Given the description of an element on the screen output the (x, y) to click on. 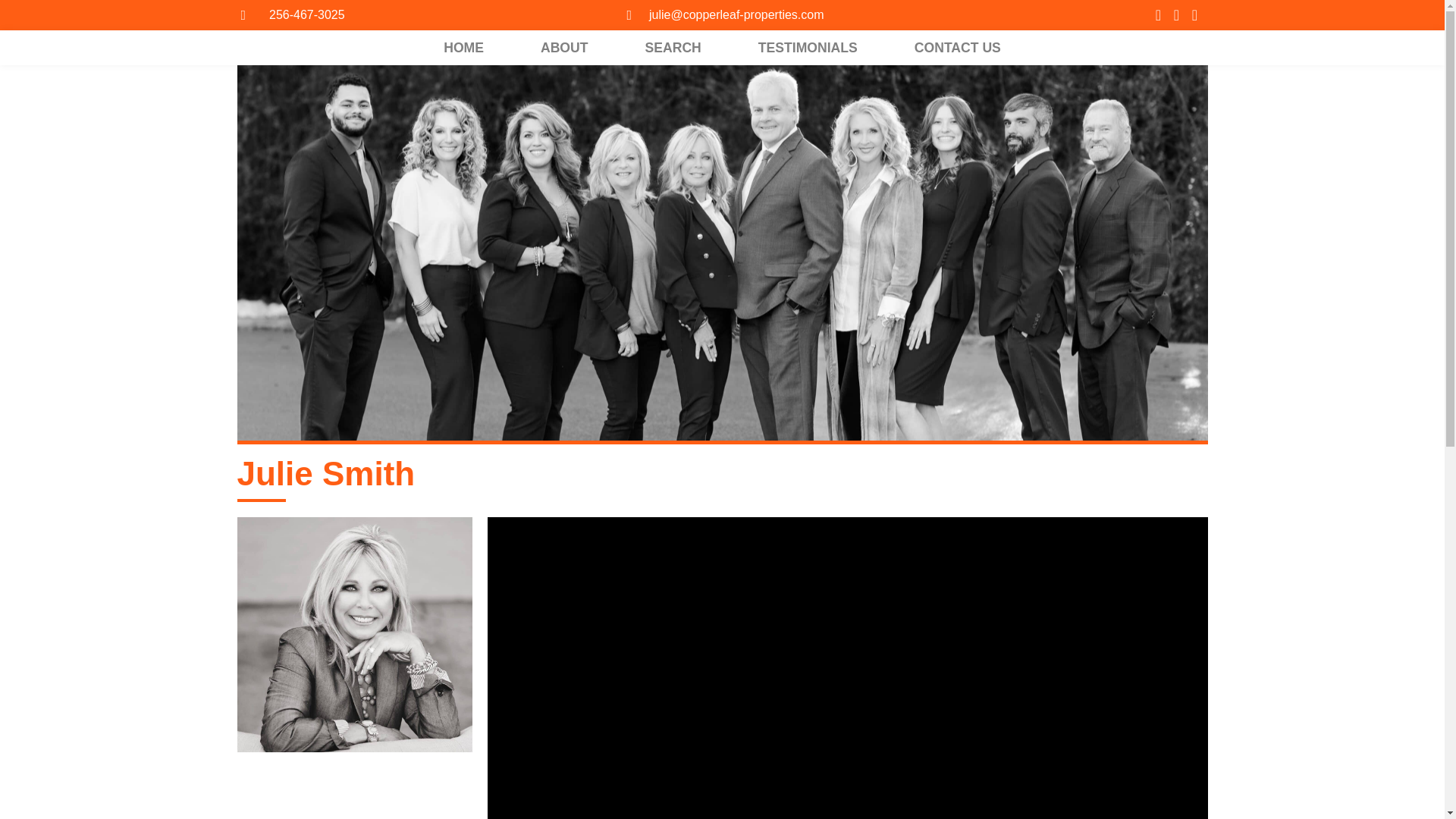
ABOUT (564, 47)
Youtube (1194, 14)
SEARCH (673, 47)
Facebook (1157, 14)
256-467-3025 (293, 15)
CONTACT US (957, 47)
TESTIMONIALS (807, 47)
HOME (463, 47)
Instagram (1176, 14)
